Given the description of an element on the screen output the (x, y) to click on. 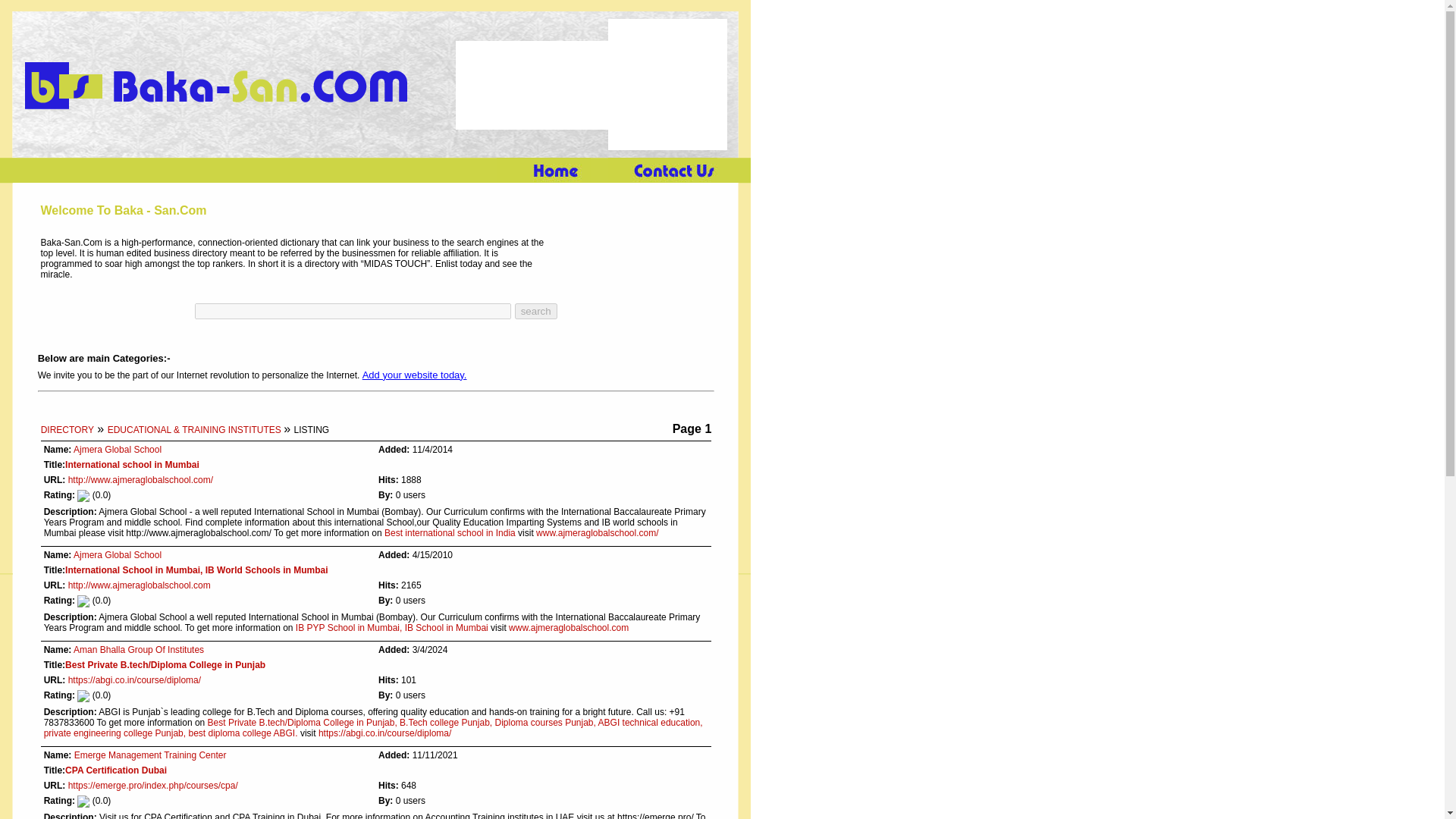
Aman Bhalla Group Of Institutes (138, 649)
search (536, 311)
IB PYP School in Mumbai, IB School in Mumbai (391, 627)
CPA Certification Dubai (116, 769)
Ajmera Global School (117, 449)
DIRECTORY (67, 429)
International School in Mumbai, IB World Schools in Mumbai (196, 570)
www.ajmeraglobalschool.com (568, 627)
Best international school in India (449, 532)
International school in Mumbai (132, 464)
Emerge Management Training Center (150, 755)
search (536, 311)
Add your website today. (414, 375)
Ajmera Global School (117, 554)
